Given the description of an element on the screen output the (x, y) to click on. 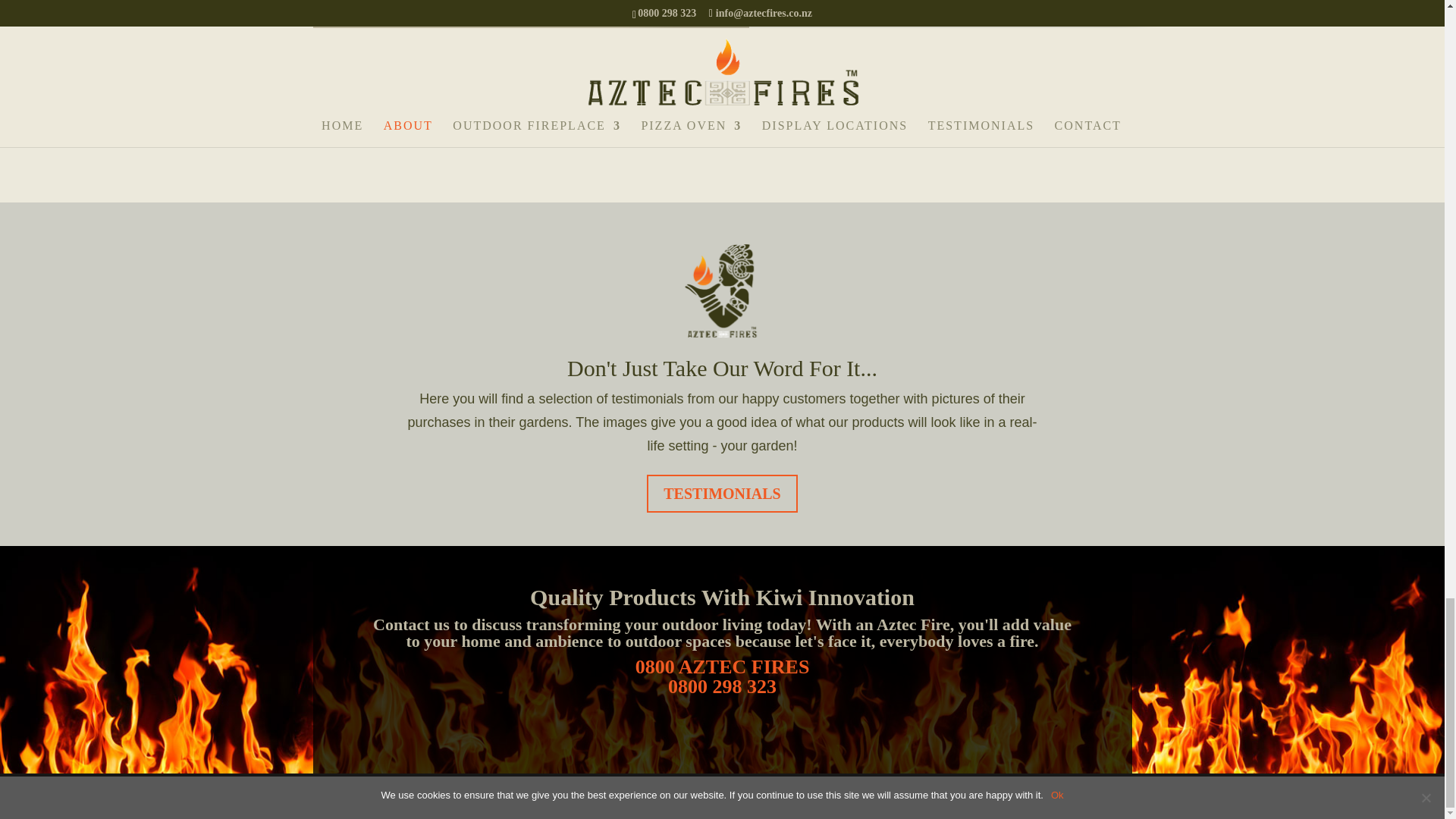
CONTACT US (378, 121)
TESTIMONIALS (721, 493)
